Given the description of an element on the screen output the (x, y) to click on. 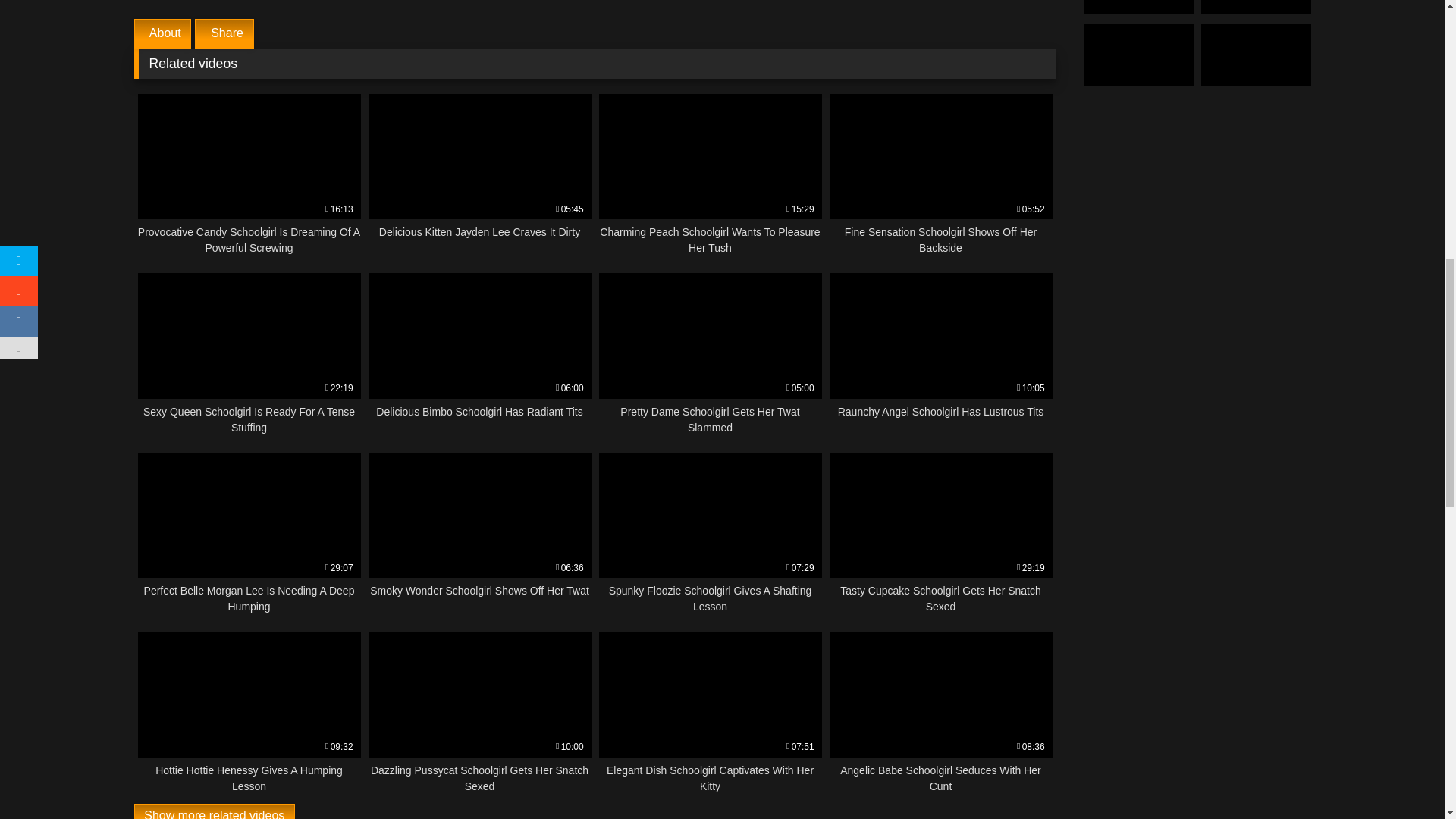
Charming Peach Schoolgirl Wants To Pleasure Her Tush (479, 353)
Spunky Floozie Schoolgirl Gives A Shafting Lesson (249, 533)
Raunchy Angel Schoolgirl Has Lustrous Tits (710, 175)
Smoky Wonder Schoolgirl Shows Off Her Twat (710, 353)
About (710, 533)
Perfect Belle Morgan Lee Is Needing A Deep Humping (940, 175)
Fine Sensation Schoolgirl Shows Off Her Backside (940, 353)
Tasty Cupcake Schoolgirl Gets Her Snatch Sexed (479, 533)
Delicious Kitten Jayden Lee Craves It Dirty (710, 533)
